Given the description of an element on the screen output the (x, y) to click on. 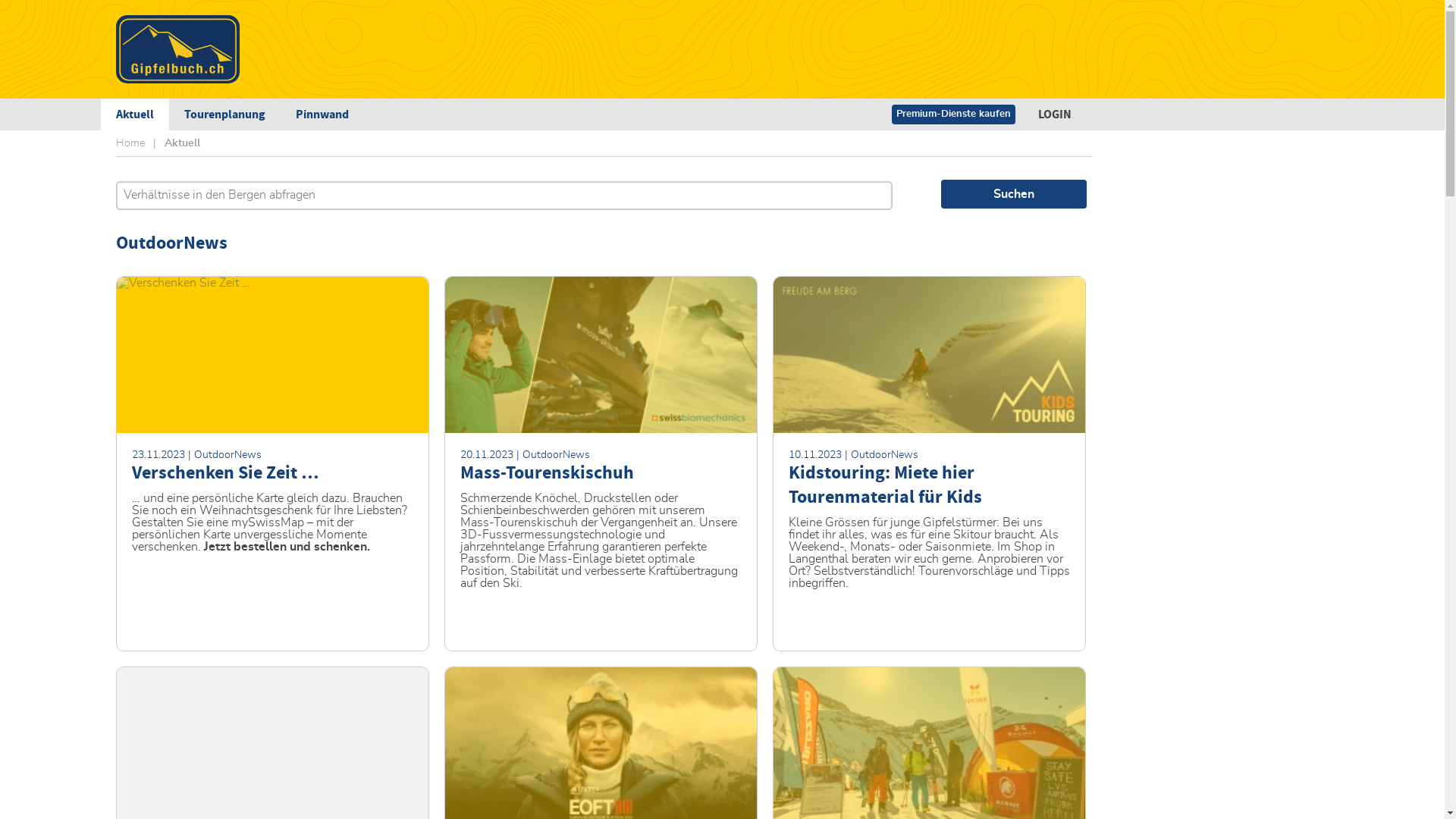
Suchen Element type: text (1012, 193)
Home Element type: text (129, 143)
Aktuell Element type: text (134, 114)
Pinnwand Element type: text (322, 114)
LOGIN Element type: text (1053, 114)
Aktuell Element type: text (181, 143)
Tourenplanung Element type: text (223, 114)
